Given the description of an element on the screen output the (x, y) to click on. 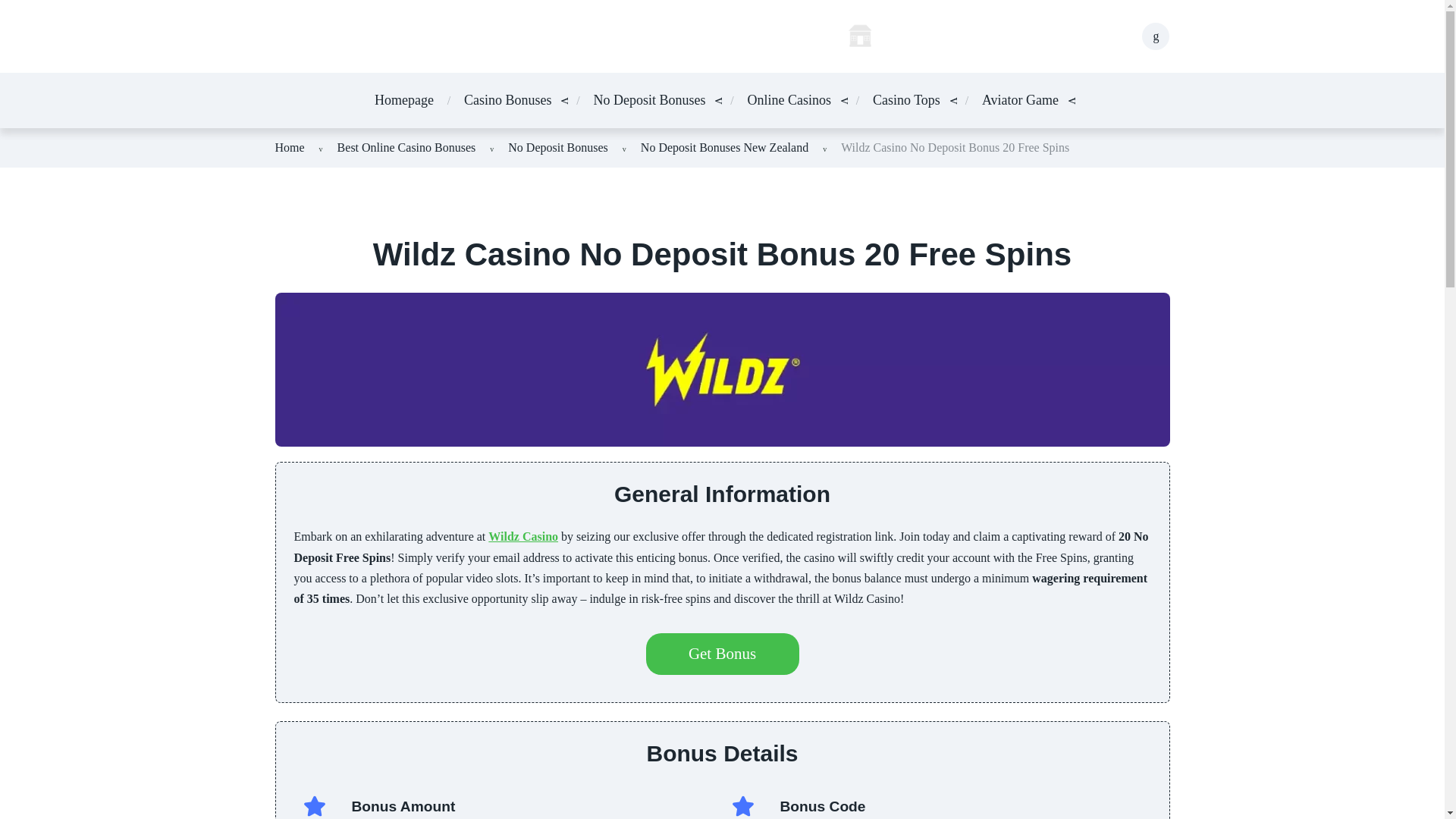
No Deposit Bonuses New Zealand (724, 146)
Casino Bonuses (507, 100)
No Deposit Bonuses (648, 100)
Online Casinos (788, 100)
Wildz Casino No Deposit Bonus 20 Free Spins (954, 146)
No Deposit Bonuses (558, 146)
Homepage (403, 100)
Best Online Casino Bonuses (406, 146)
Casino Tops (906, 100)
Home (289, 146)
